Given the description of an element on the screen output the (x, y) to click on. 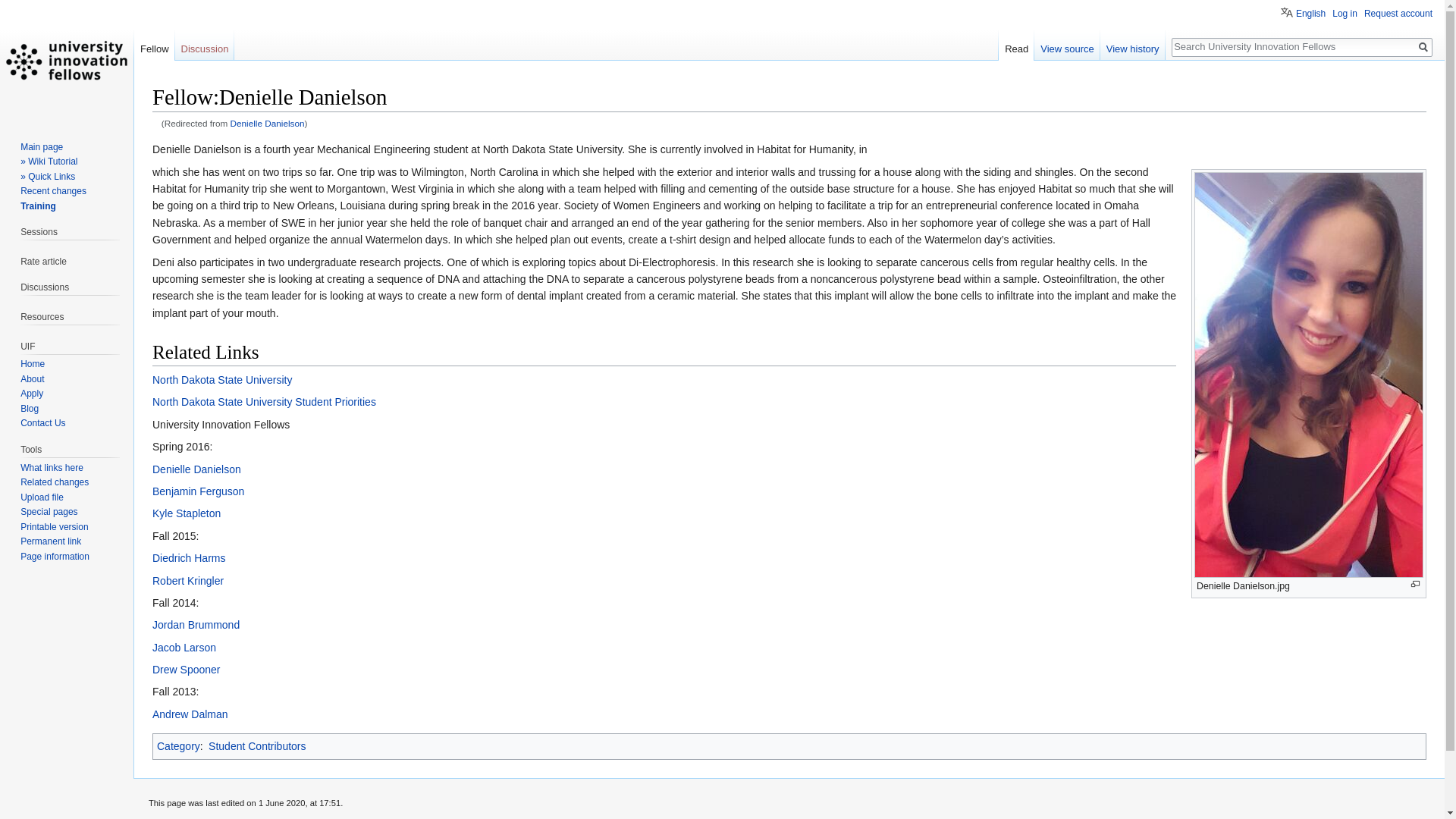
Go (1423, 46)
Apply (31, 393)
Jacob Larson (183, 647)
North Dakota State University Student Priorities (263, 401)
Robert Kringler (188, 580)
Home (32, 363)
Blog (29, 408)
Main page (41, 146)
Log in (1344, 13)
Andrew Dalman (190, 714)
